Given the description of an element on the screen output the (x, y) to click on. 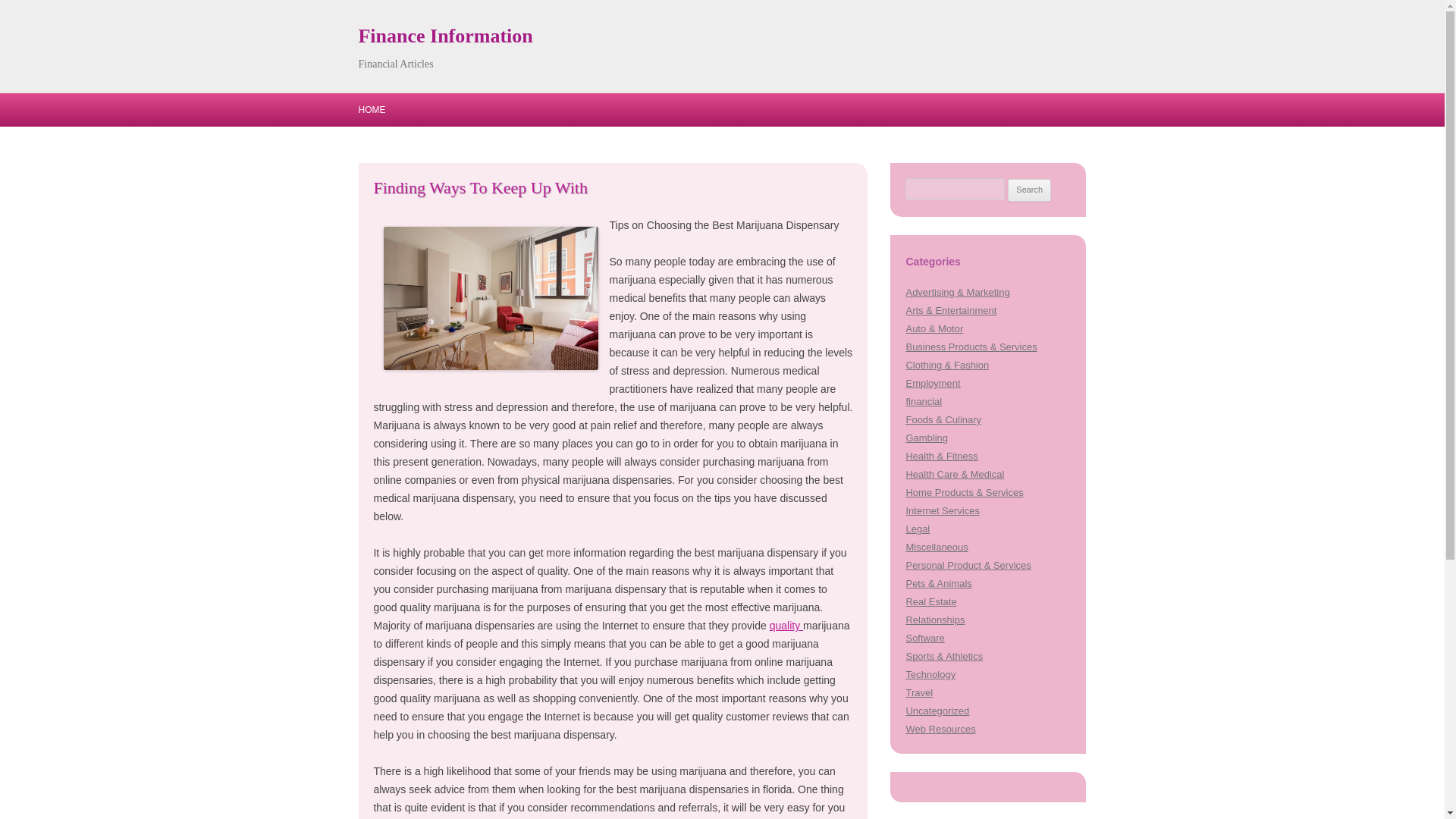
Finance Information (445, 36)
Real Estate (930, 601)
Web Resources (940, 728)
Technology (930, 674)
Search (1029, 190)
Internet Services (941, 510)
Software (924, 637)
Gambling (926, 437)
Relationships (934, 619)
